Given the description of an element on the screen output the (x, y) to click on. 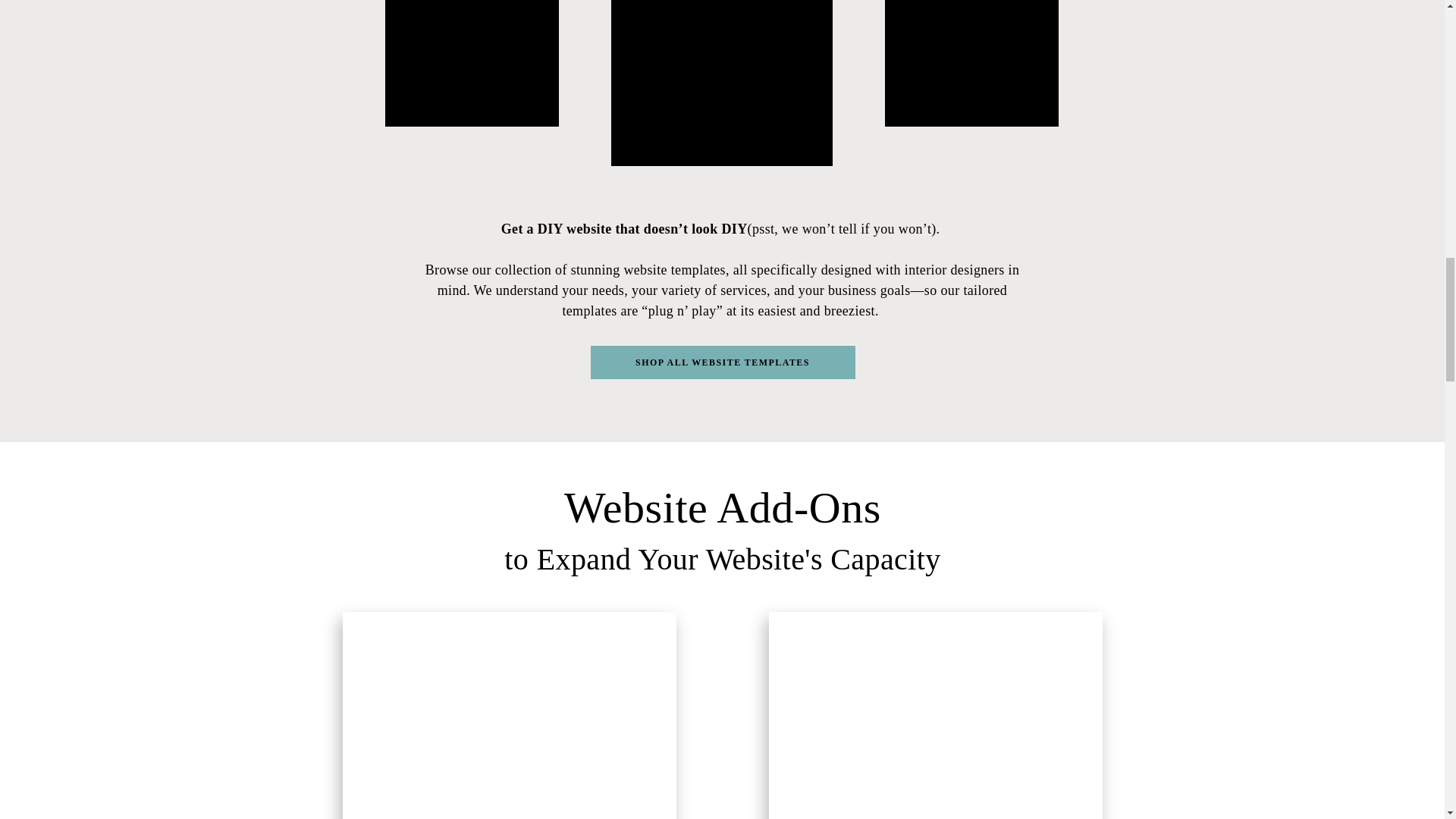
SHOP ALL WEBSITE TEMPLATES (723, 365)
